Given the description of an element on the screen output the (x, y) to click on. 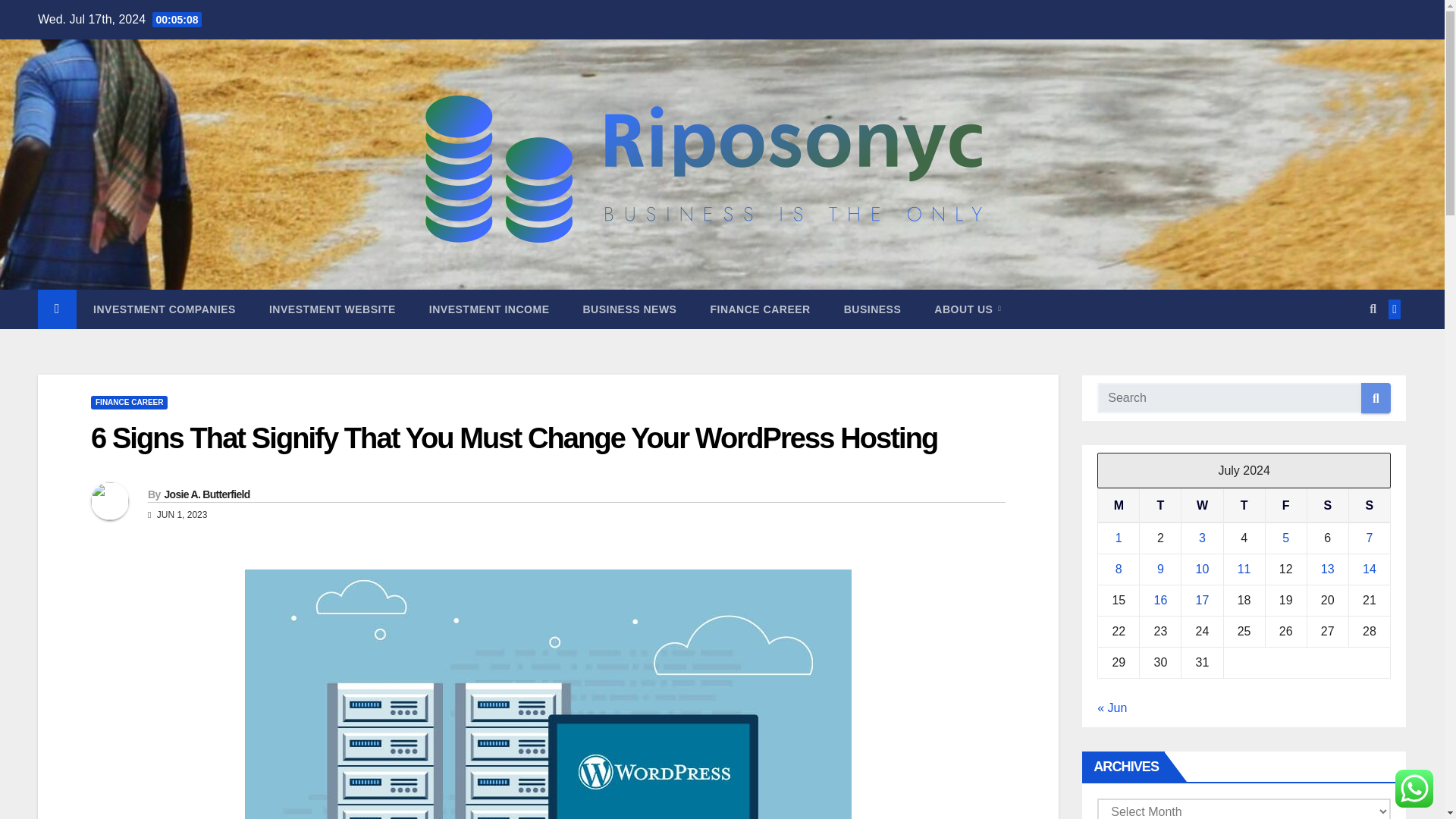
Investment Income (489, 309)
FINANCE CAREER (760, 309)
Finance Career (760, 309)
Josie A. Butterfield (205, 494)
BUSINESS NEWS (629, 309)
FINANCE CAREER (128, 402)
Investment Companies (164, 309)
BUSINESS (872, 309)
INVESTMENT COMPANIES (164, 309)
Business (872, 309)
ABOUT US (967, 309)
About Us (967, 309)
Investment Website (331, 309)
